Given the description of an element on the screen output the (x, y) to click on. 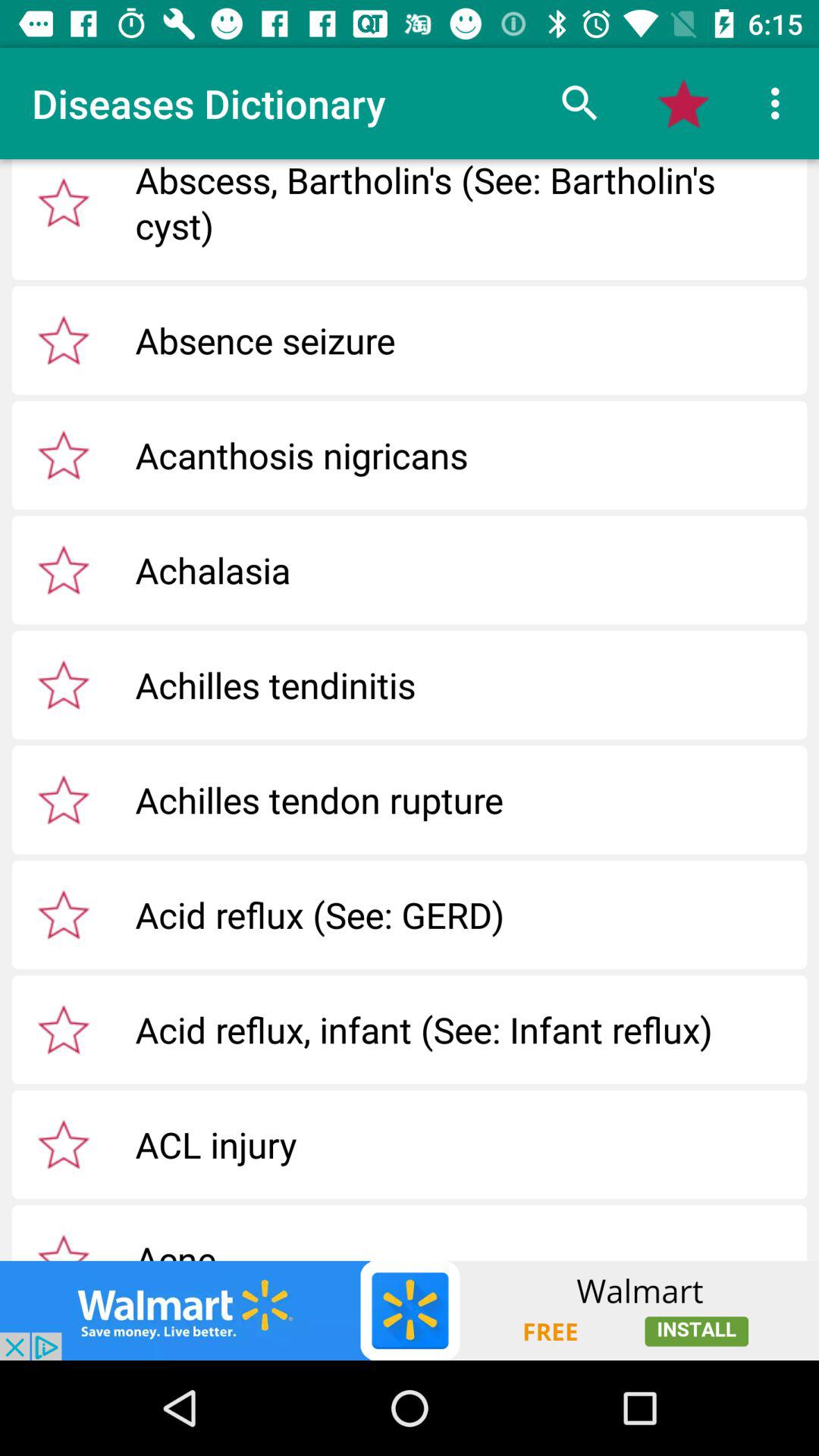
add to favorites (63, 569)
